Given the description of an element on the screen output the (x, y) to click on. 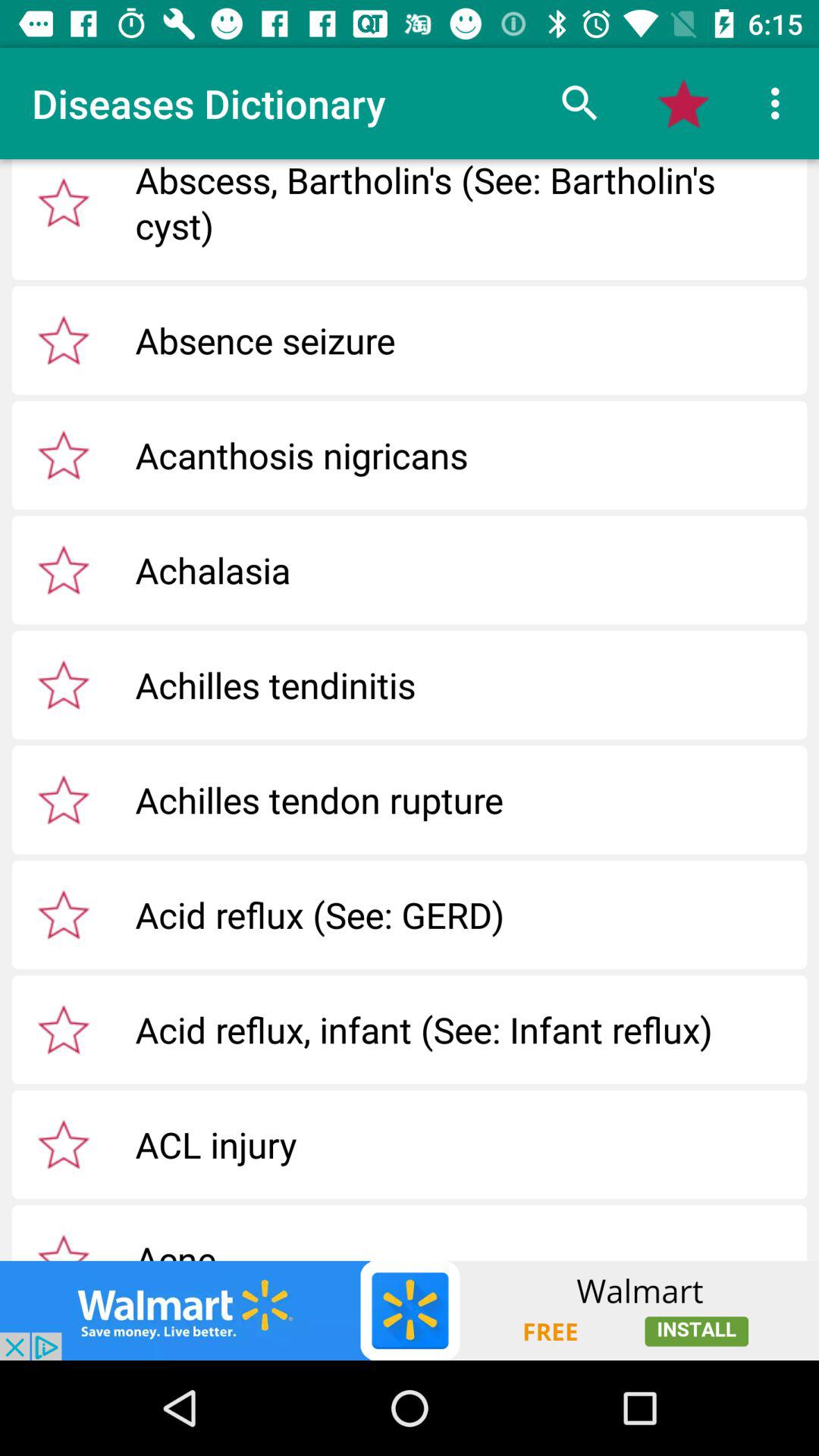
add to favorites (63, 569)
